Given the description of an element on the screen output the (x, y) to click on. 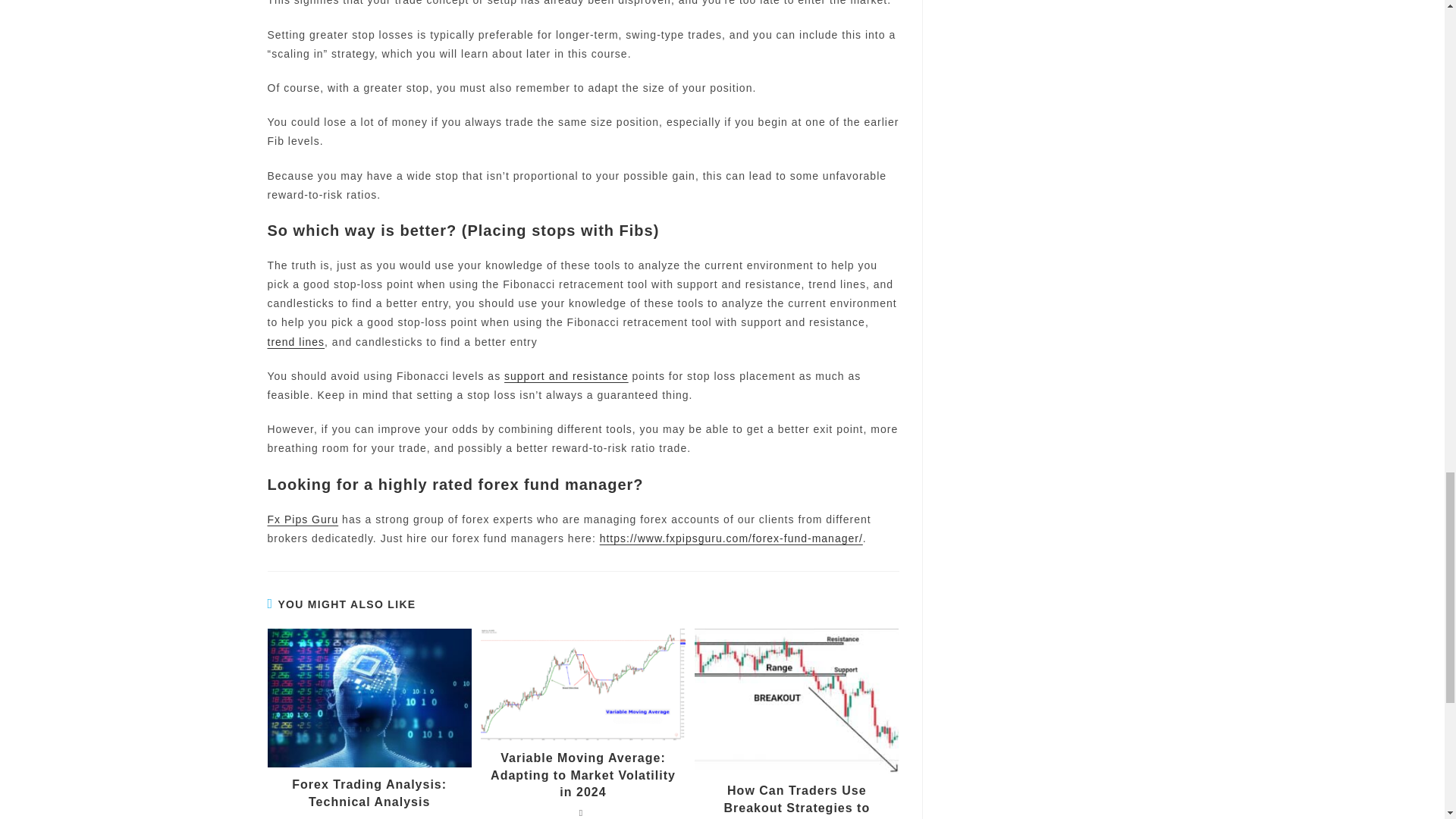
support and resistance (565, 376)
Forex Trading Analysis: Technical Analysis (368, 793)
trend lines (295, 341)
Fx Pips Guru (301, 519)
